Given the description of an element on the screen output the (x, y) to click on. 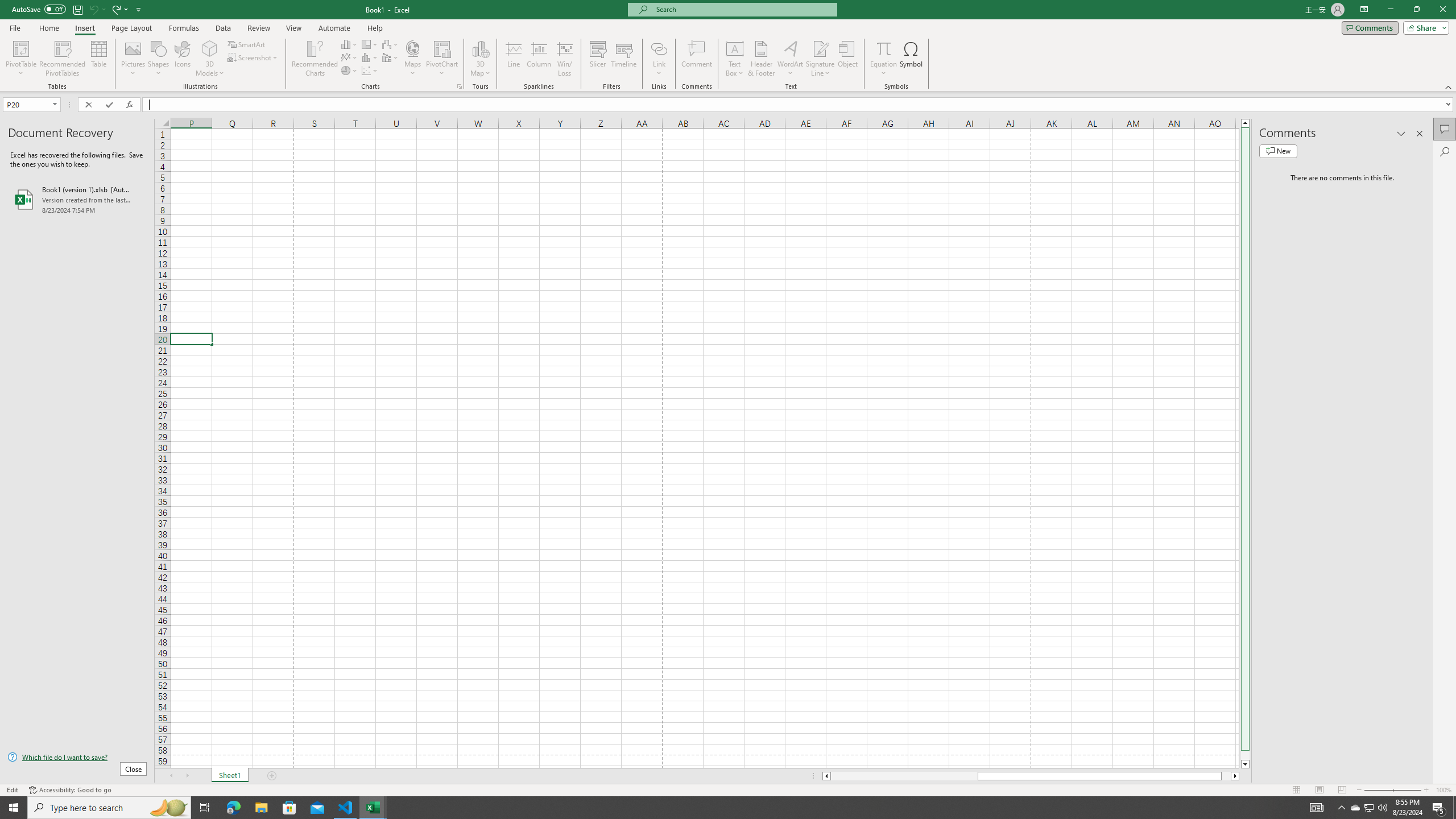
Ribbon Display Options (1364, 9)
